Given the description of an element on the screen output the (x, y) to click on. 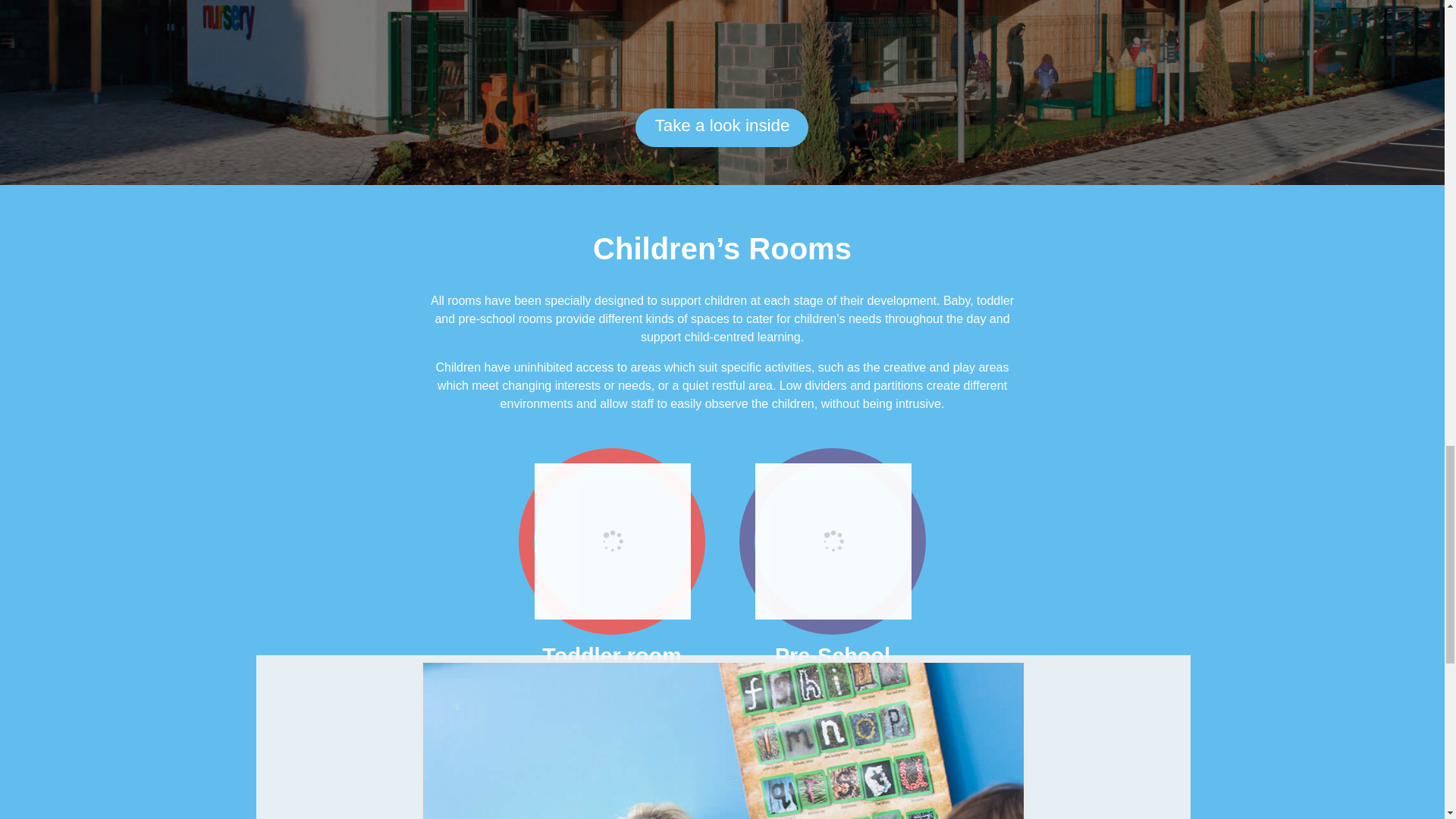
Take a look inside (721, 127)
